Given the description of an element on the screen output the (x, y) to click on. 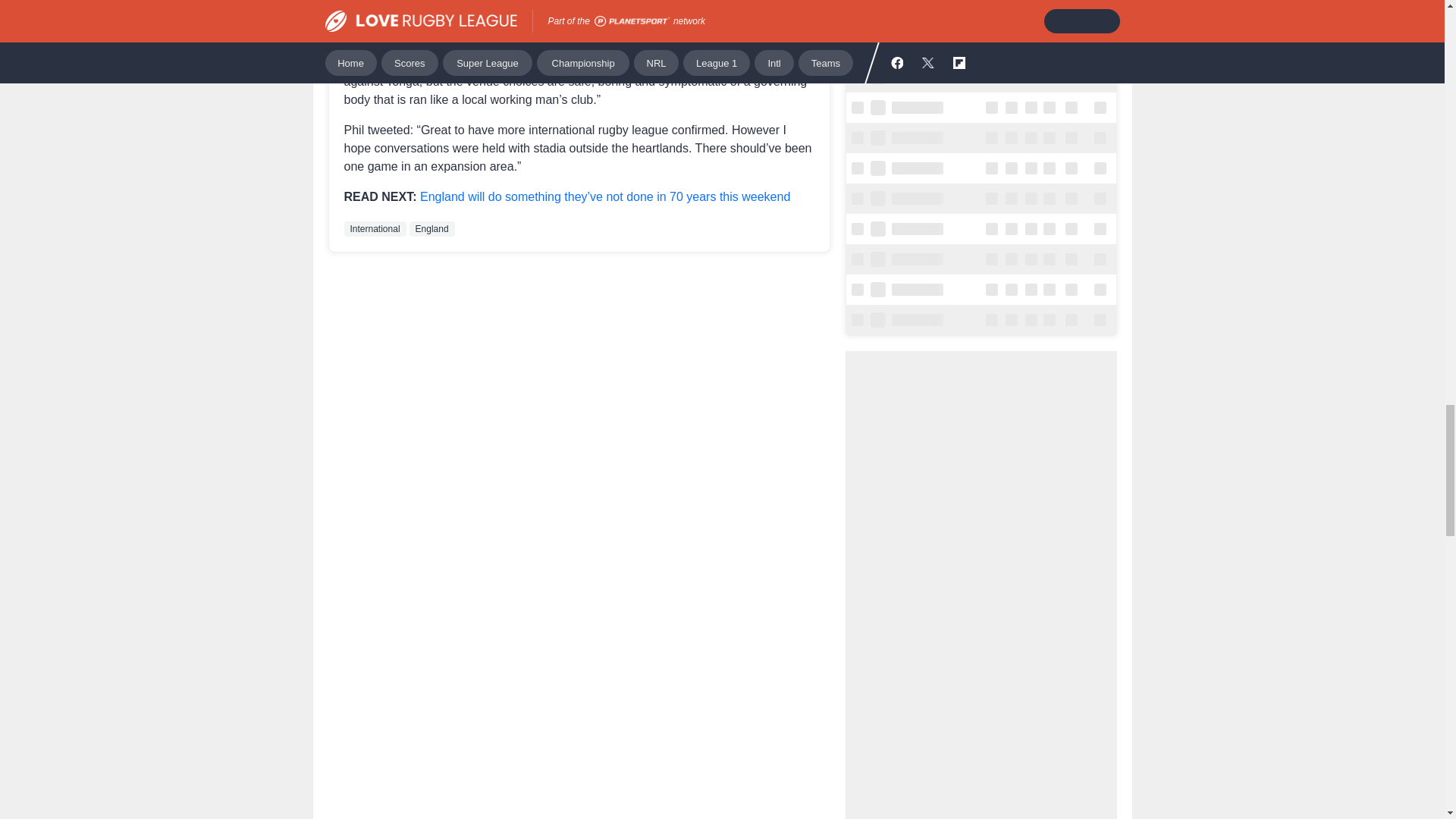
England (431, 228)
International (374, 228)
